Given the description of an element on the screen output the (x, y) to click on. 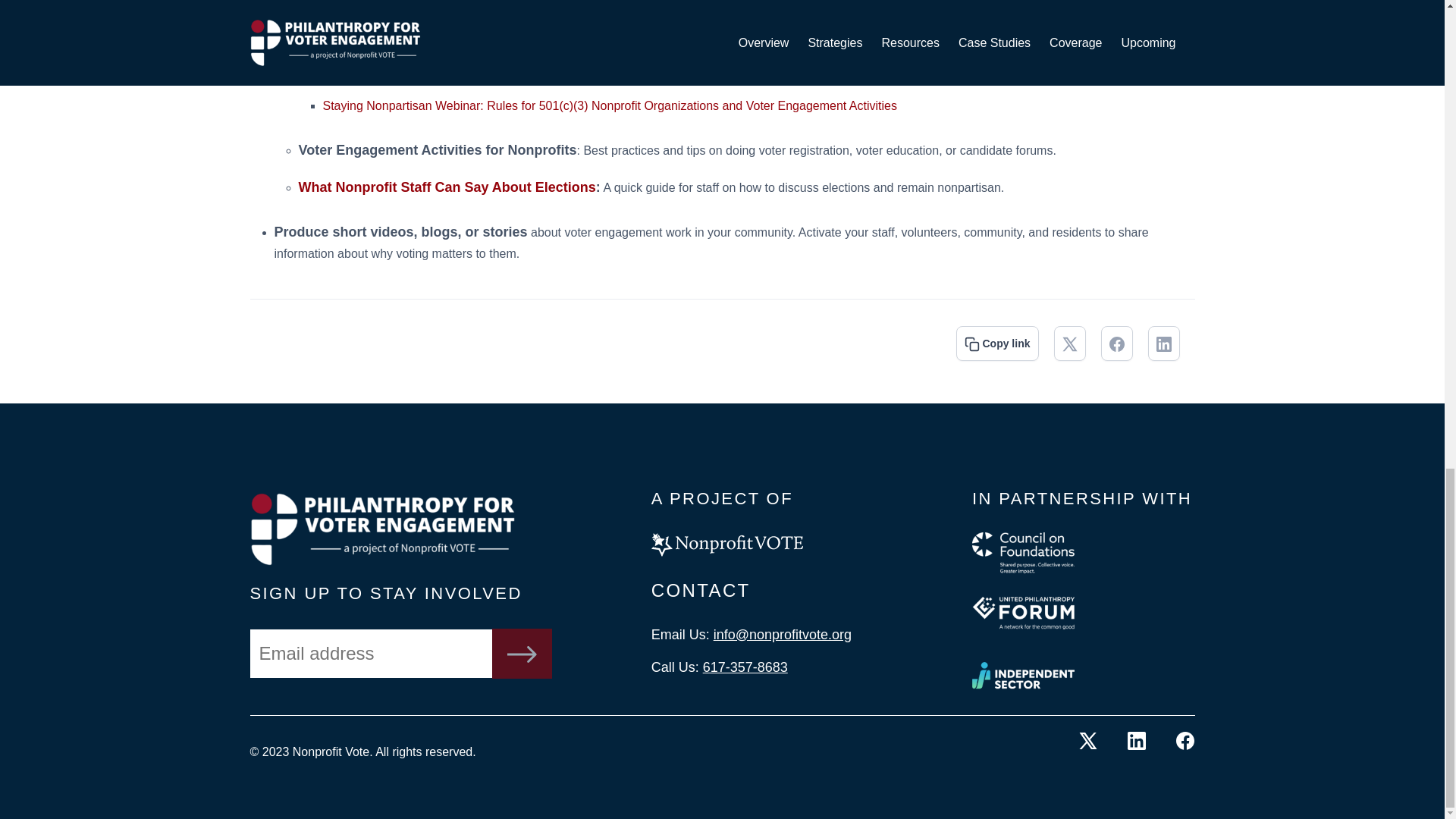
What Nonprofit Staff Can Say About Elections (446, 187)
Copy link (996, 343)
